Given the description of an element on the screen output the (x, y) to click on. 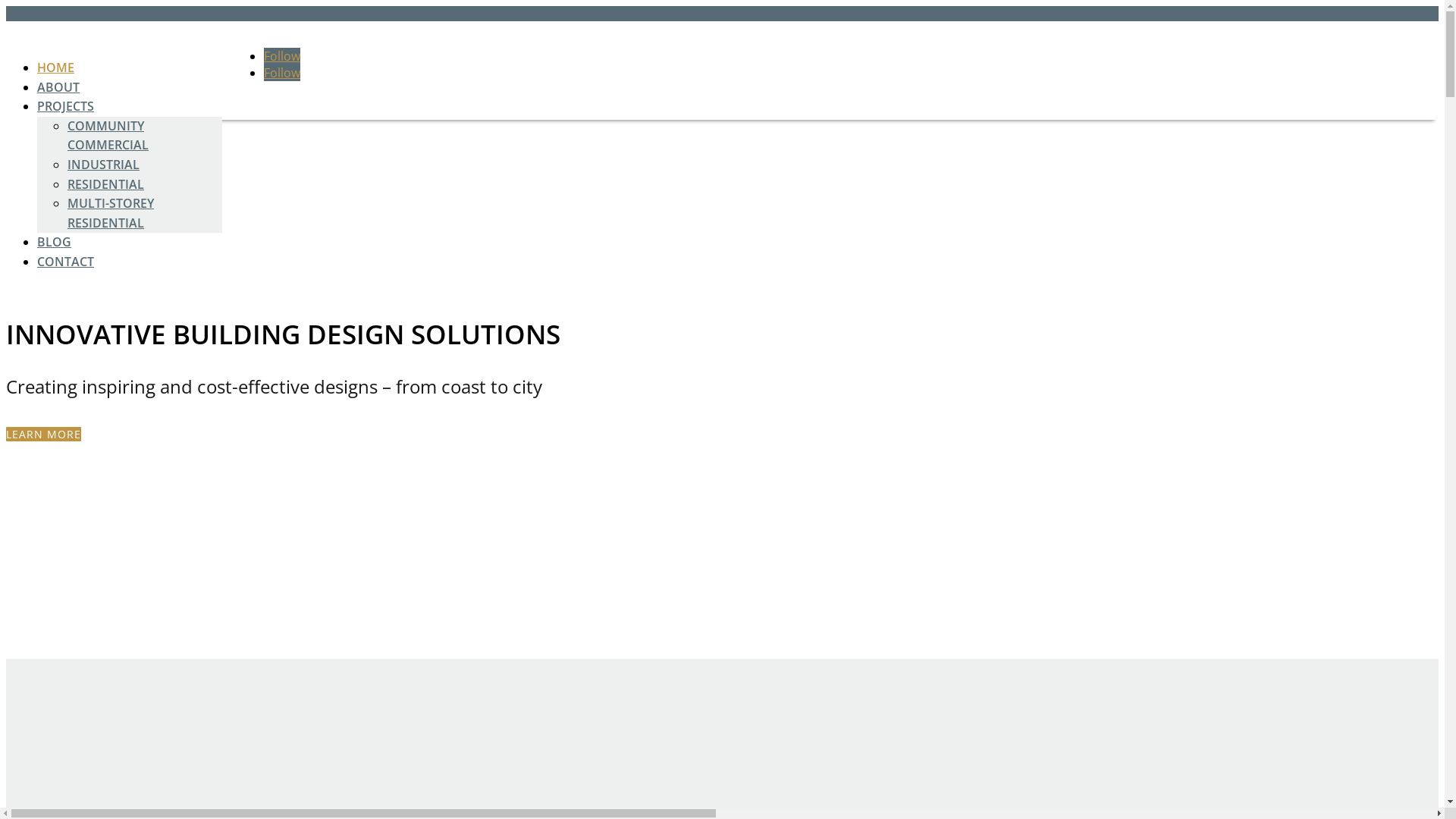
CONTACT Element type: text (65, 261)
BLOG Element type: text (54, 241)
LEARN MORE Element type: text (43, 433)
HOME Element type: text (55, 67)
INDUSTRIAL Element type: text (103, 164)
MULTI-STOREY RESIDENTIAL Element type: text (110, 212)
RESIDENTIAL Element type: text (105, 183)
PROJECTS Element type: text (65, 105)
ABOUT Element type: text (58, 86)
COMMUNITY COMMERCIAL Element type: text (107, 135)
Follow Element type: text (281, 72)
Follow Element type: text (281, 55)
